Given the description of an element on the screen output the (x, y) to click on. 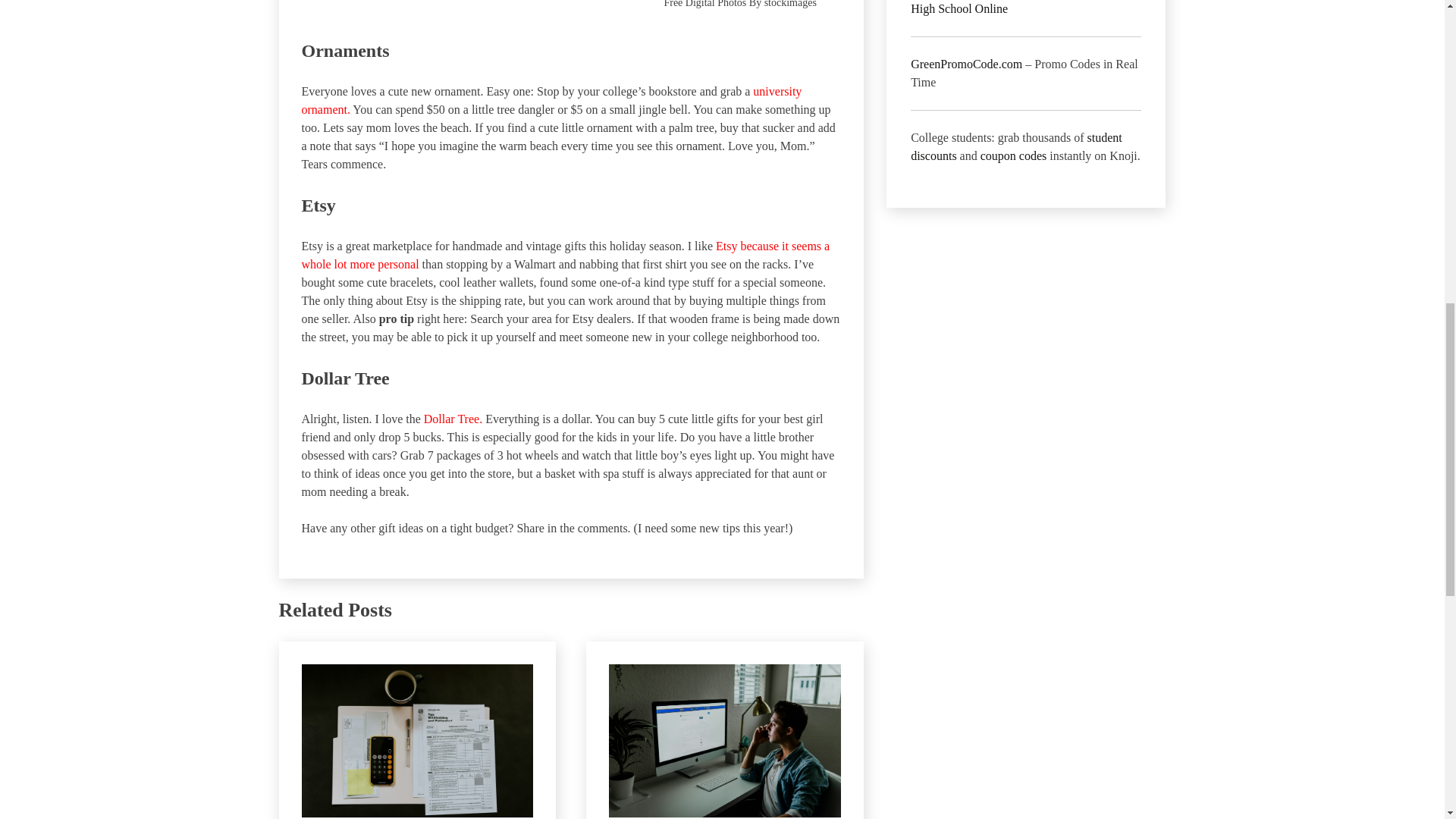
Dollar Tree. (452, 418)
Etsy because it seems a whole lot more personal (565, 255)
university ornament. (551, 100)
Tips and Tricks for Living on a College Student Budget (452, 418)
